Given the description of an element on the screen output the (x, y) to click on. 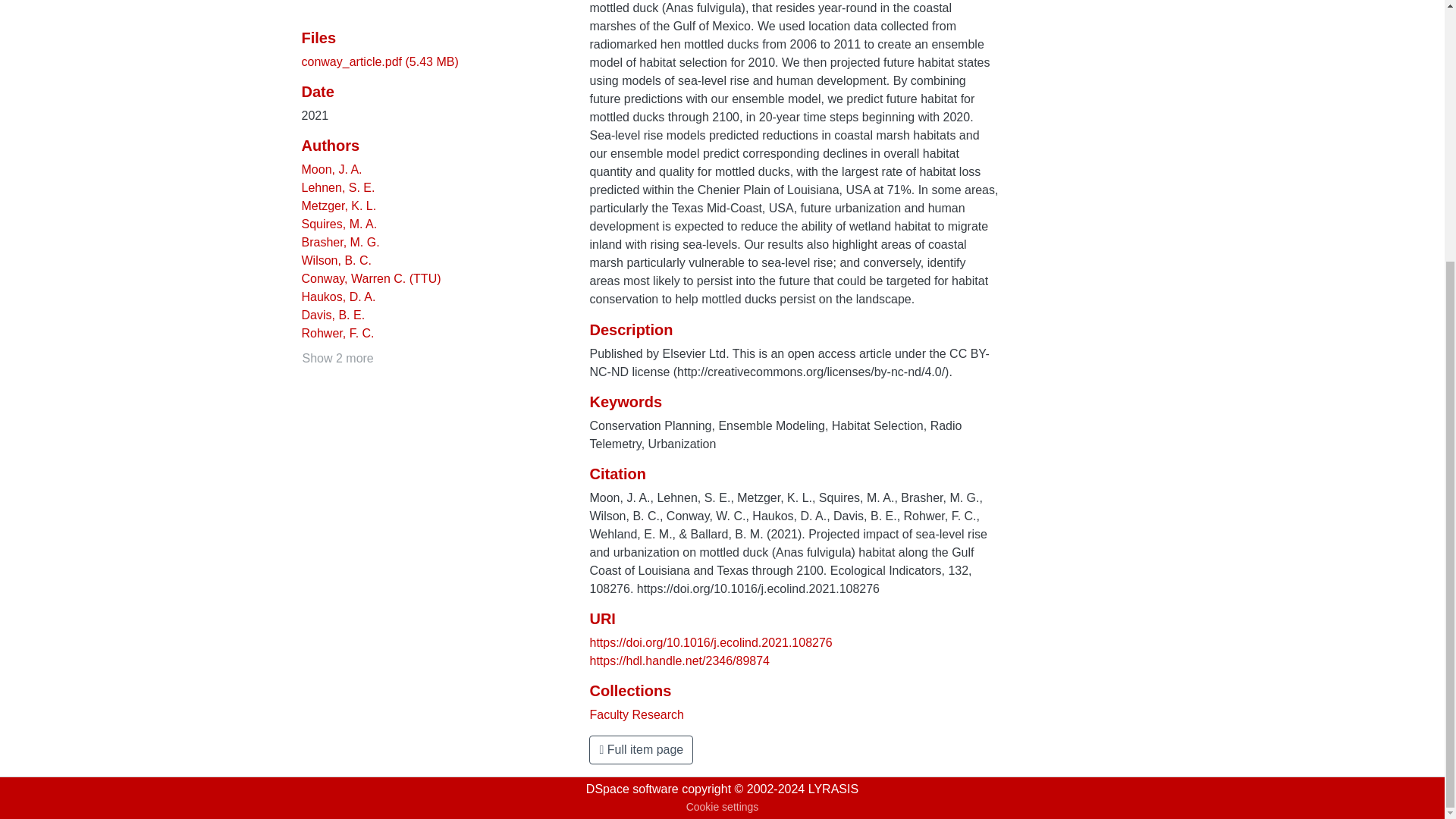
Wilson, B. C. (336, 259)
Rohwer, F. C. (337, 332)
Faculty Research (636, 714)
Squires, M. A. (339, 223)
DSpace software (632, 788)
LYRASIS (833, 788)
Lehnen, S. E. (338, 187)
Metzger, K. L. (339, 205)
Moon, J. A. (331, 169)
Davis, B. E. (333, 314)
Haukos, D. A. (338, 296)
Brasher, M. G. (340, 241)
Full item page (641, 749)
Show 2 more (337, 358)
